Given the description of an element on the screen output the (x, y) to click on. 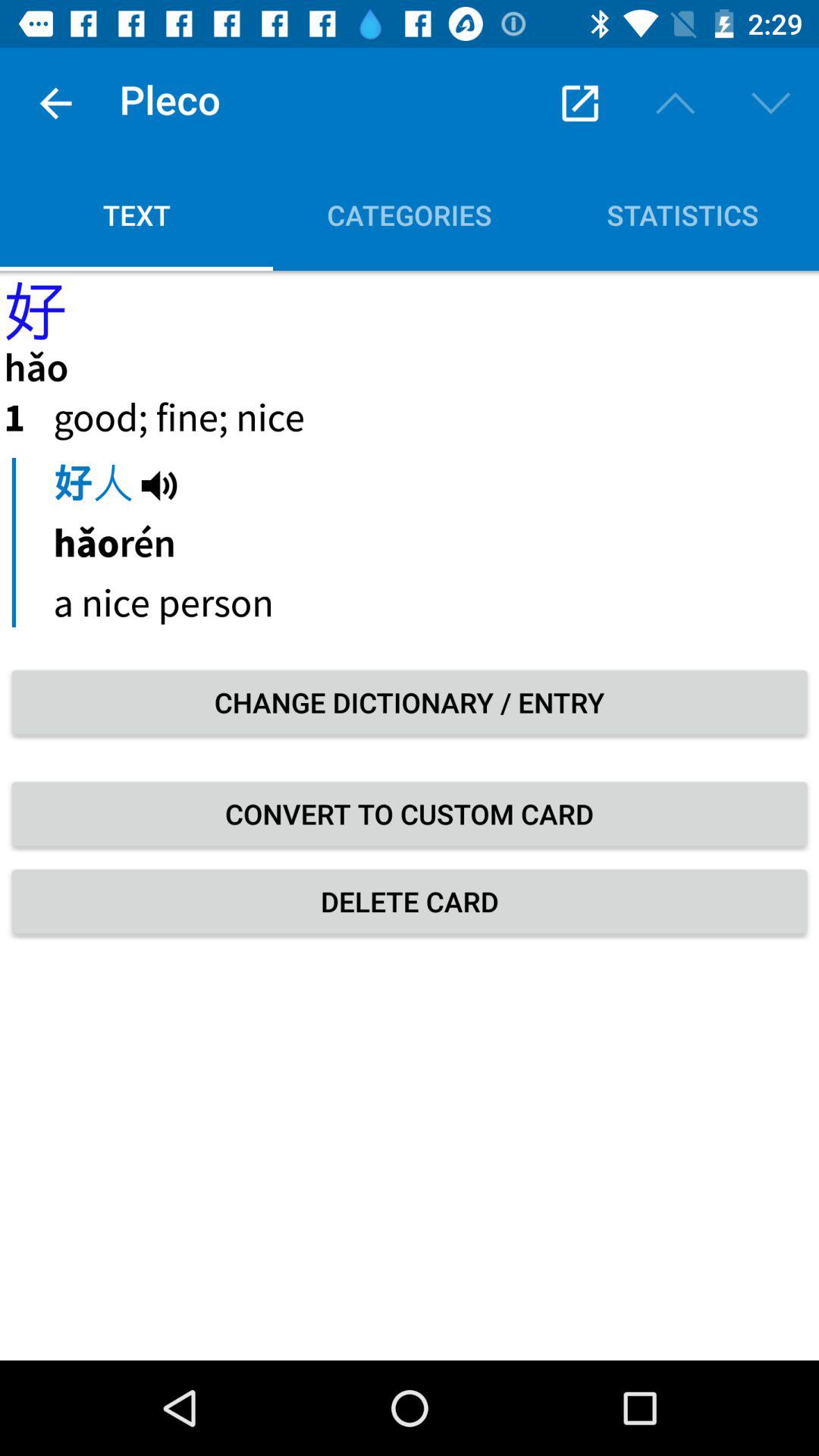
select item above the delete card icon (409, 813)
